Given the description of an element on the screen output the (x, y) to click on. 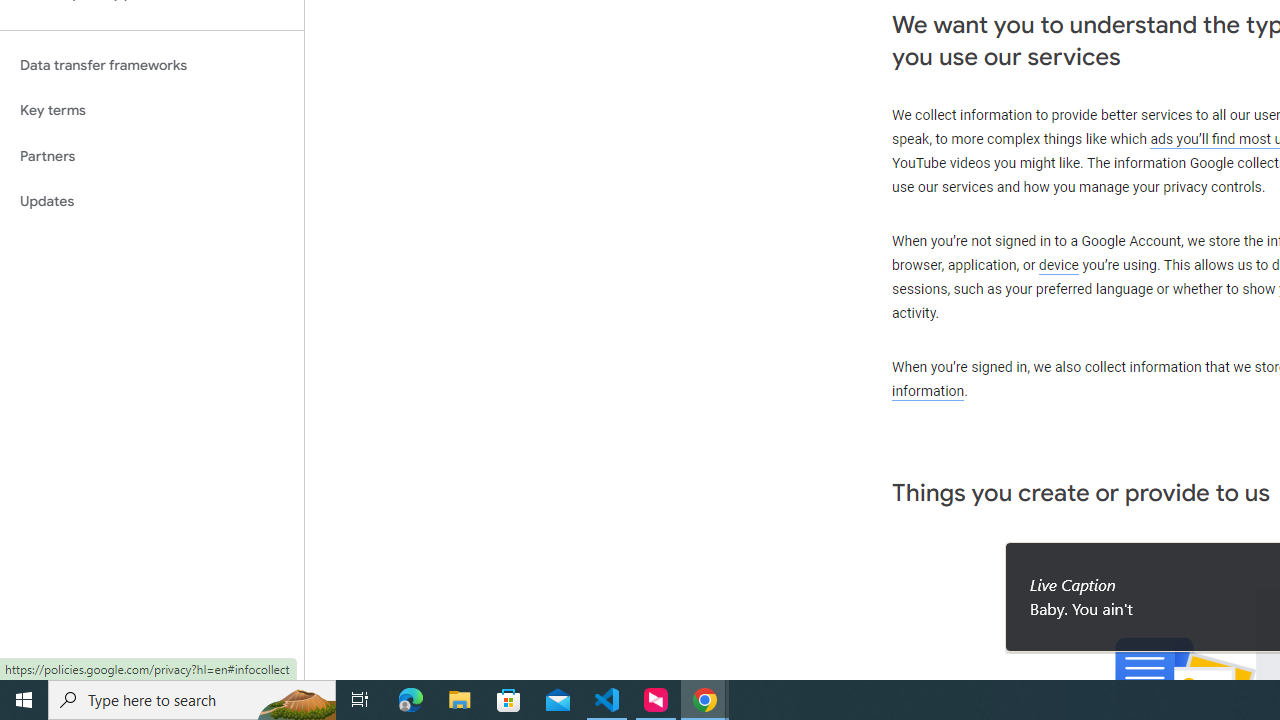
Partners (152, 156)
Data transfer frameworks (152, 65)
device (1059, 265)
Key terms (152, 110)
